Given the description of an element on the screen output the (x, y) to click on. 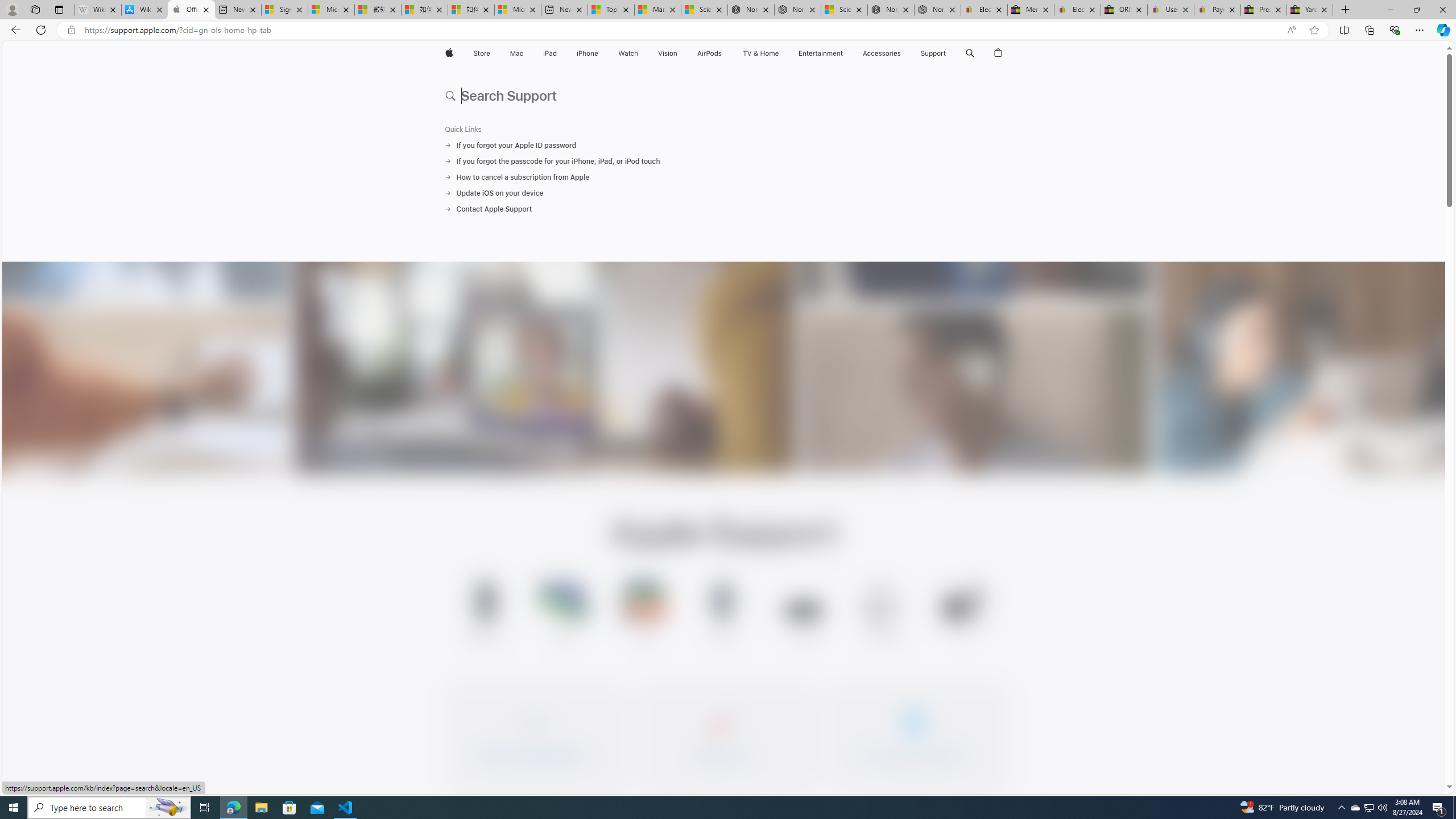
Class: globalnav-submenu-trigger-item (948, 53)
Apple Vision Pro Support (802, 612)
Support (932, 53)
Vision (667, 53)
iPhone (587, 53)
Payments Terms of Use | eBay.com (1216, 9)
Store (481, 53)
